Given the description of an element on the screen output the (x, y) to click on. 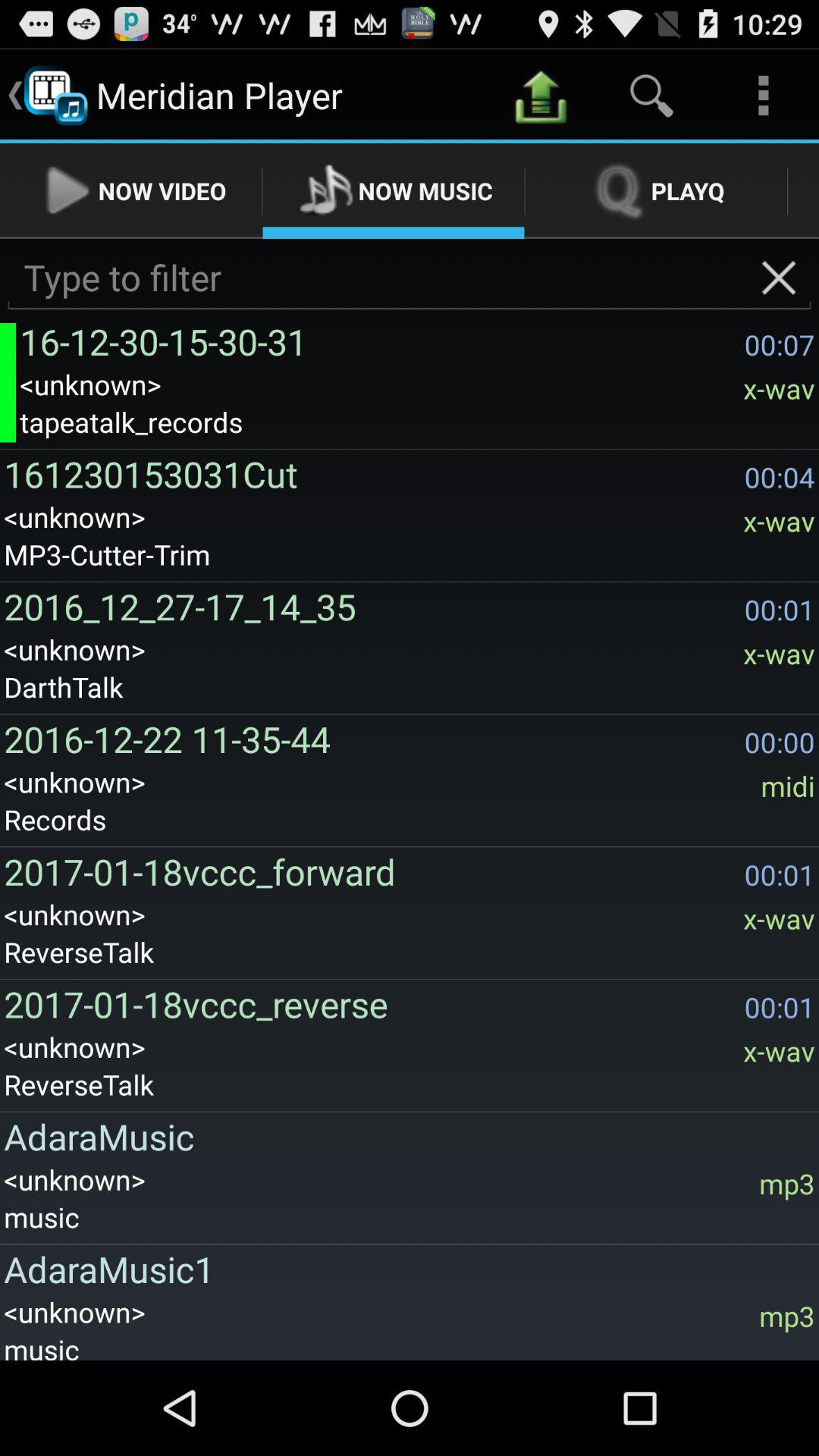
flip to midi (787, 785)
